Given the description of an element on the screen output the (x, y) to click on. 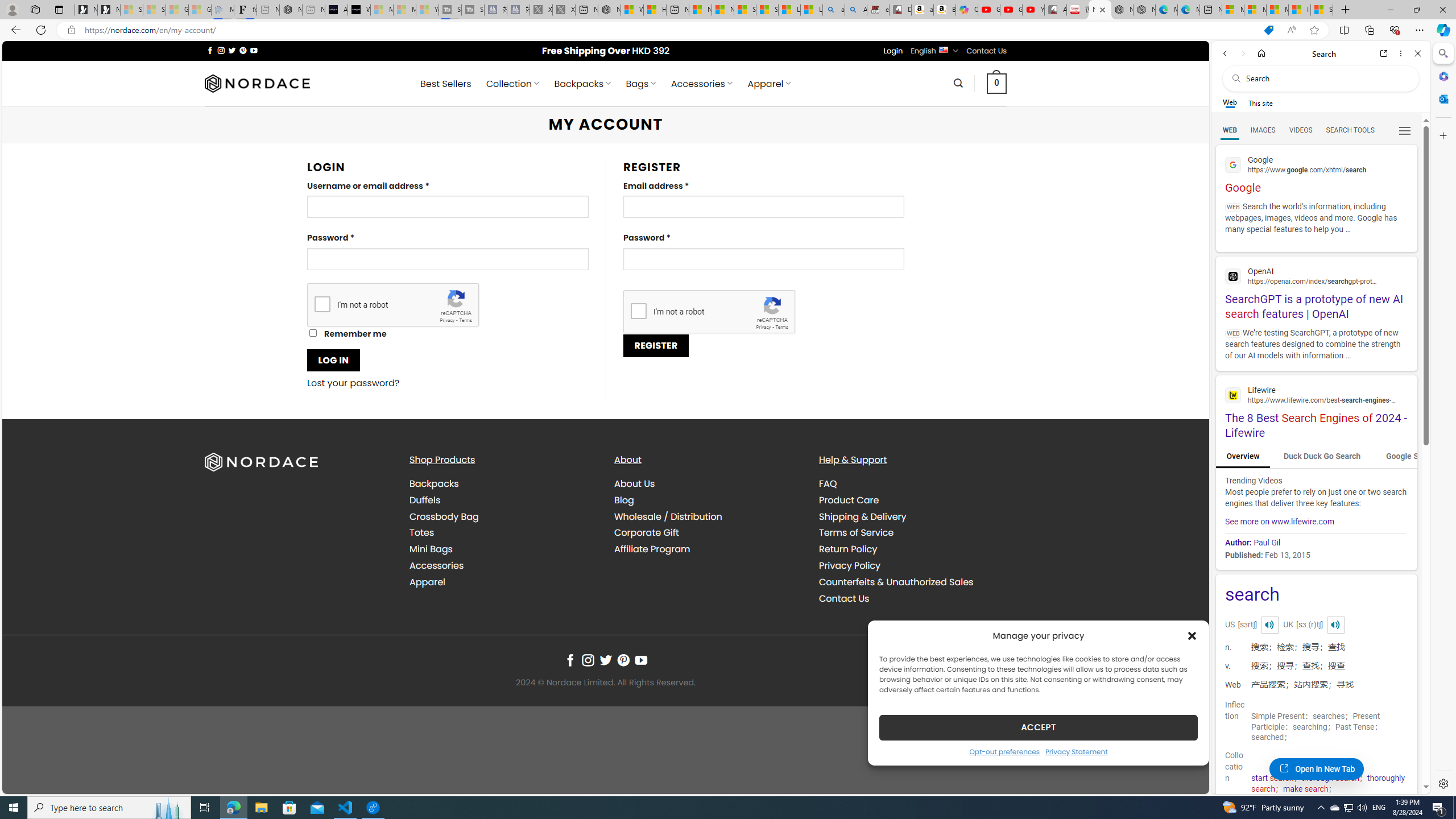
amazon - Search (834, 9)
Duffels (425, 499)
Global web icon (1232, 394)
Mini Bags (502, 549)
Wholesale / Distribution (668, 516)
Class: b_serphb (1404, 130)
Go to top (1185, 777)
Backpacks (433, 483)
make search (1304, 788)
Shipping & Delivery (912, 516)
